Given the description of an element on the screen output the (x, y) to click on. 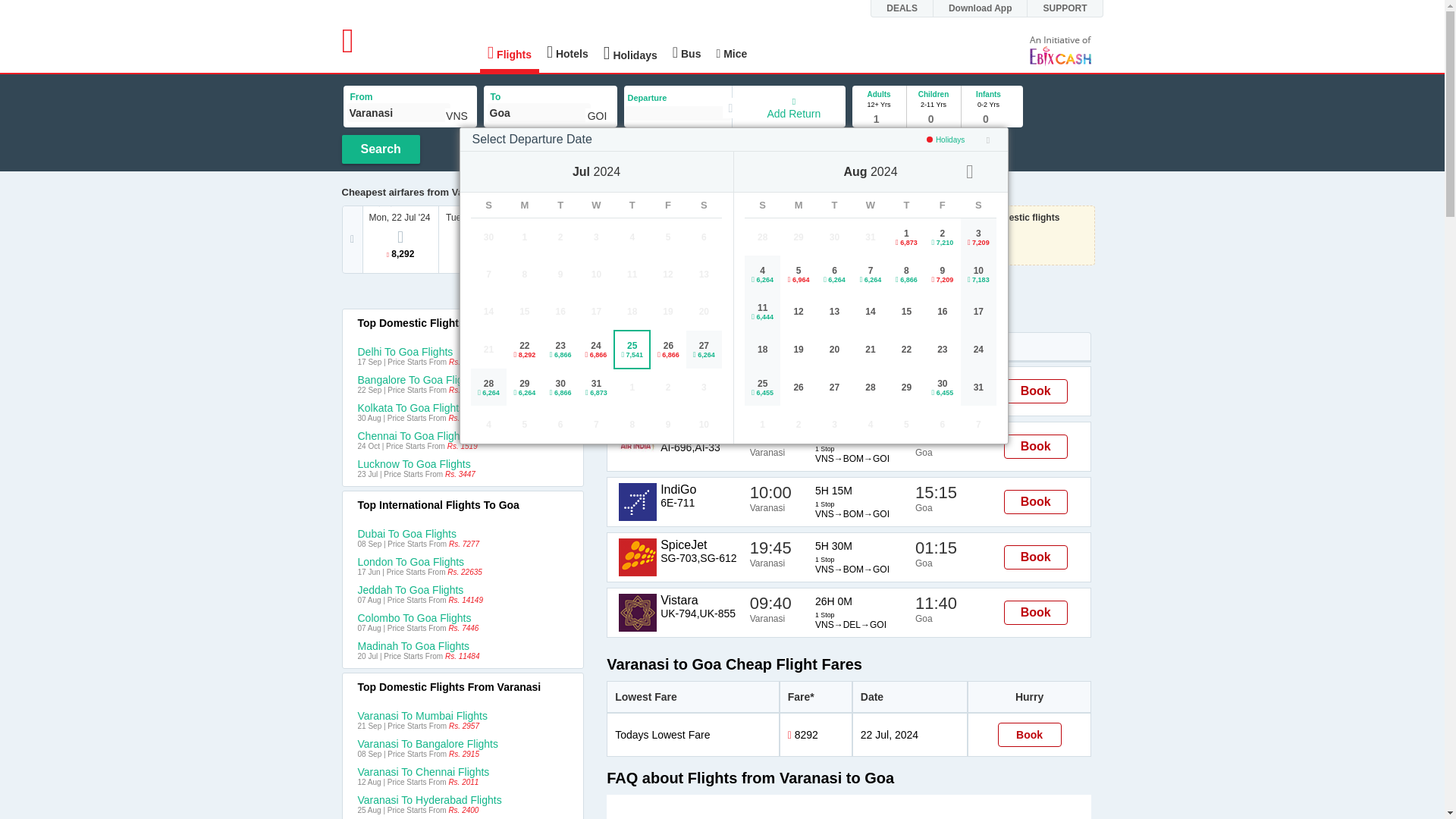
Varanasi (398, 112)
Book (1035, 446)
GOI (597, 115)
Book (1035, 557)
Dubai To Goa Flights (463, 533)
Jeddah To Goa Flights (463, 589)
Hotels (566, 51)
Chennai To Goa Flights (463, 435)
Kolkata To Goa Flights (463, 408)
Lucknow To Goa Flights (463, 463)
Delhi To Goa Flights (463, 351)
VNS (456, 115)
Bus (687, 51)
SUPPORT (1072, 8)
Book (1035, 612)
